Given the description of an element on the screen output the (x, y) to click on. 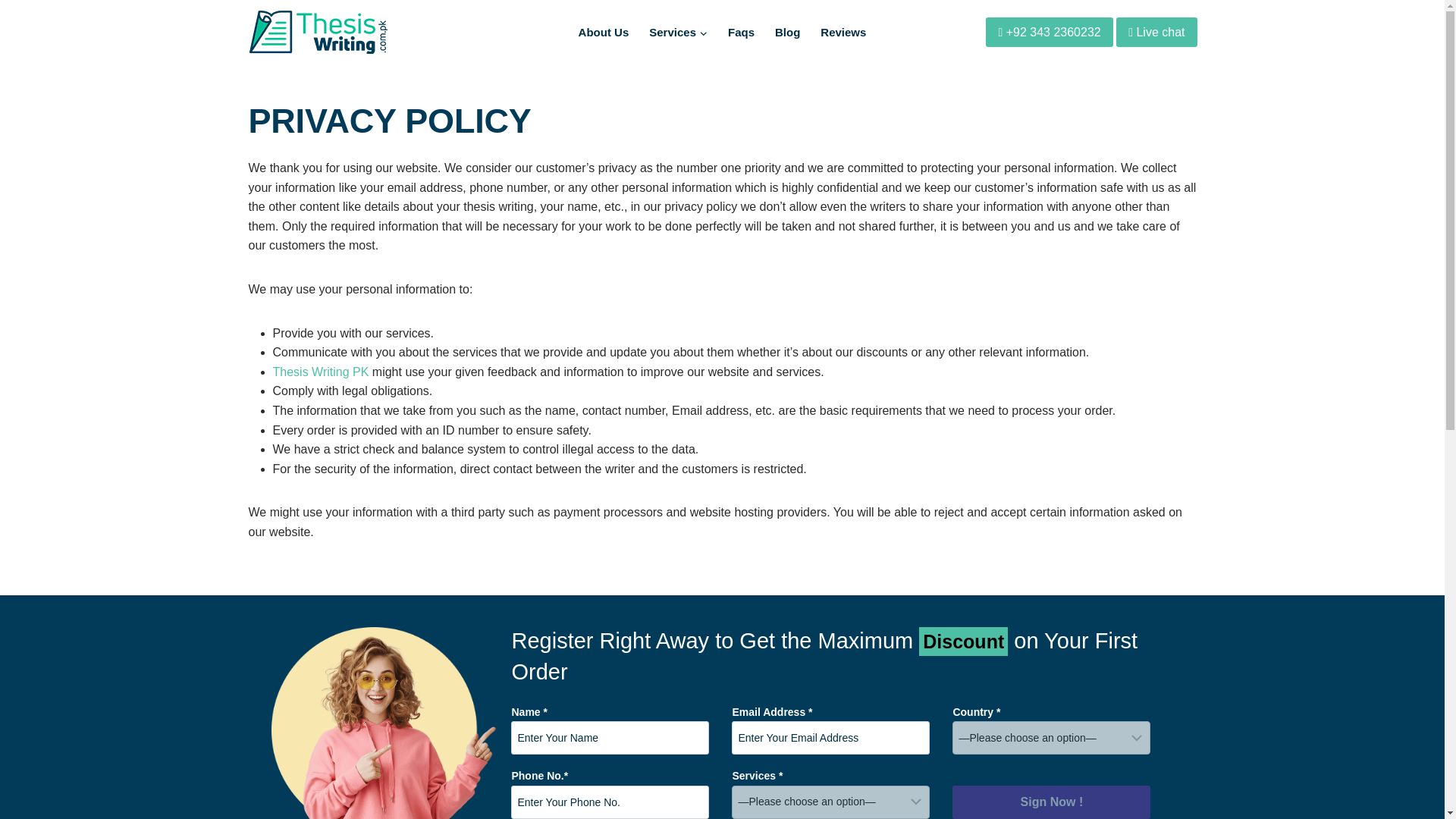
Sign Now ! (1051, 802)
Services (678, 31)
Sign Now ! (1051, 802)
Reviews (843, 31)
Blog (787, 31)
About Us (603, 31)
Live chat (1156, 31)
Faqs (740, 31)
Thesis Writing PK (321, 371)
